Given the description of an element on the screen output the (x, y) to click on. 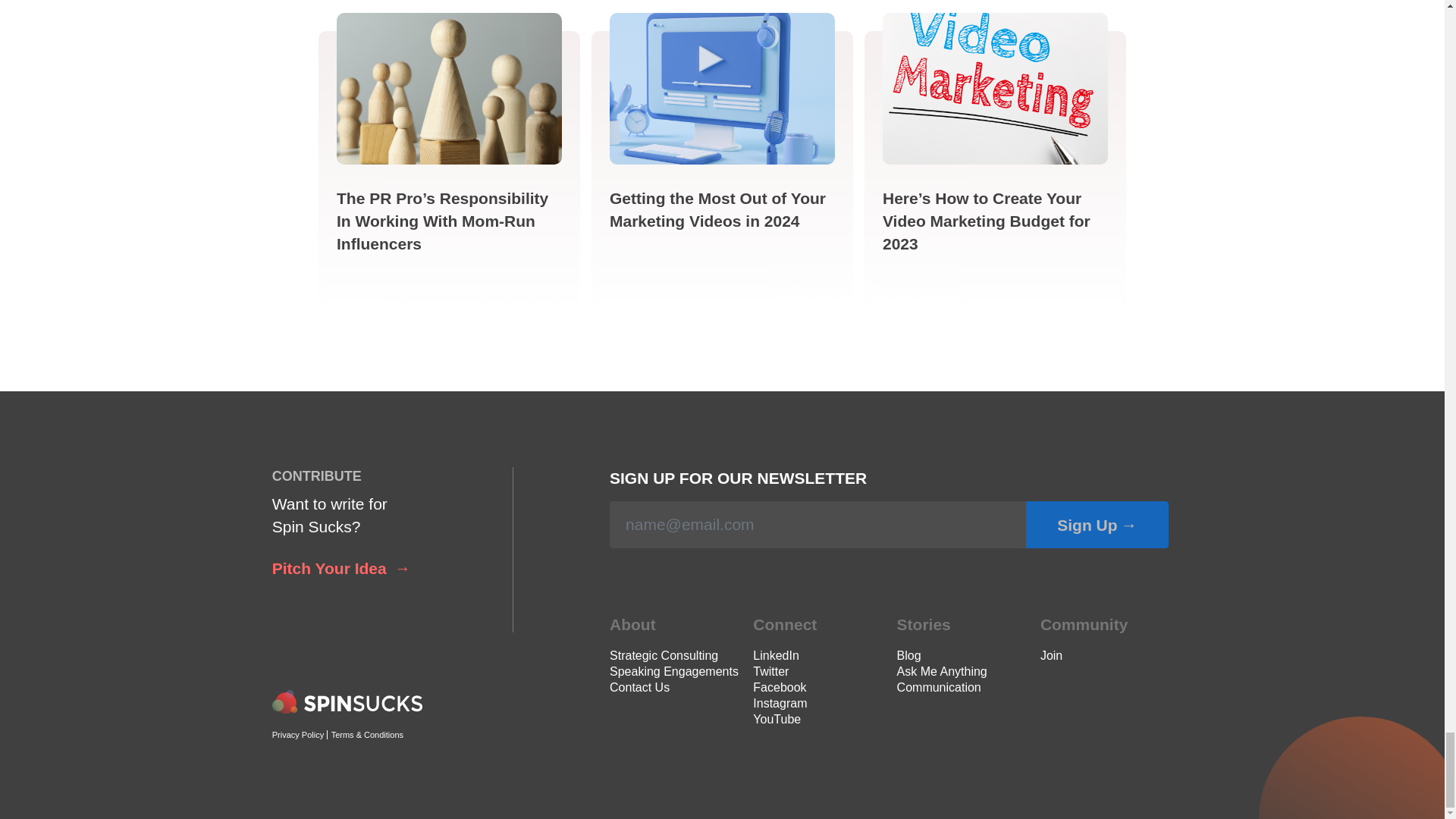
Getting the Most Out of Your Marketing Videos in 2024 (717, 209)
